Given the description of an element on the screen output the (x, y) to click on. 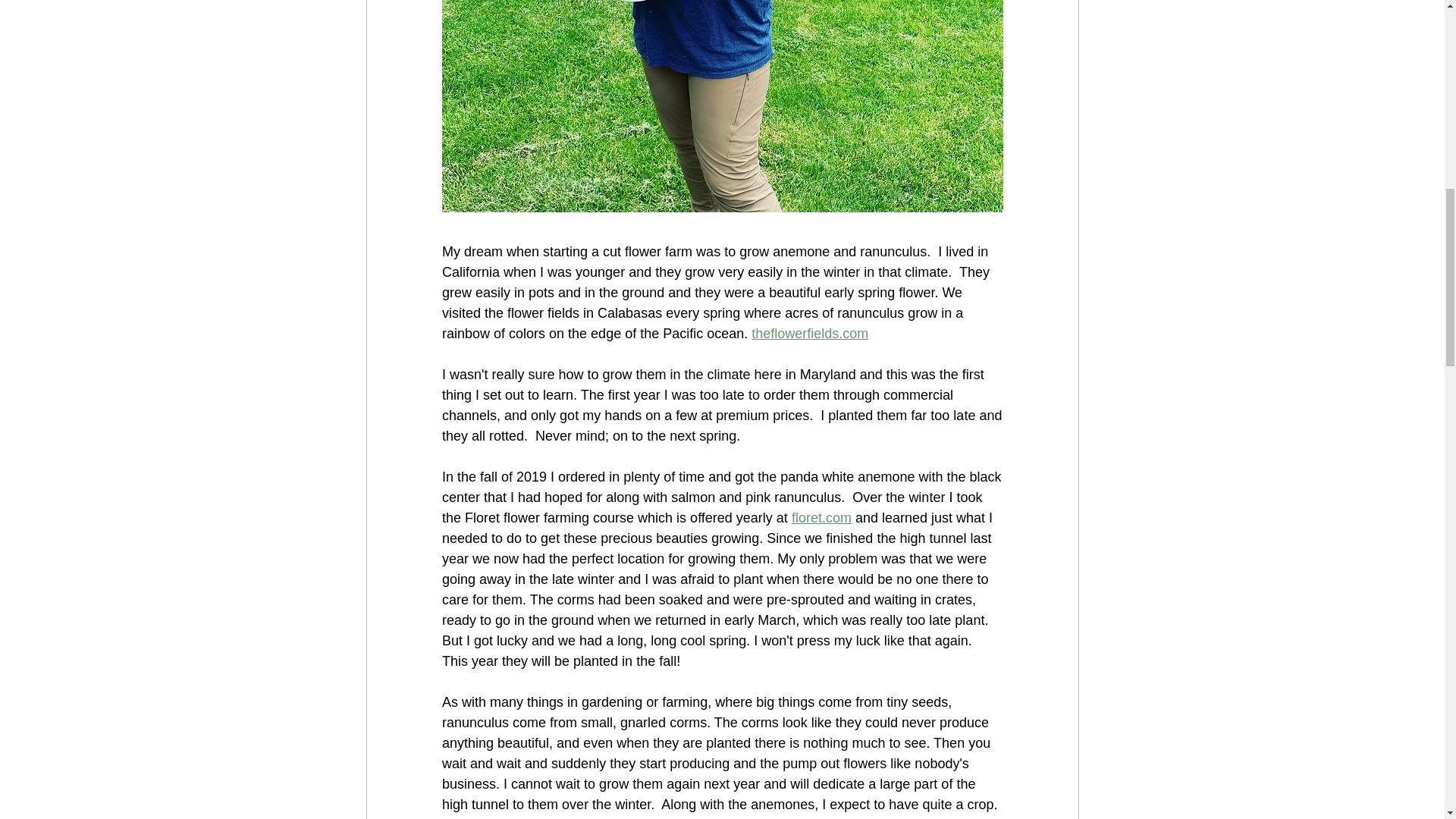
floret.com (820, 517)
theflowerfields.com (809, 333)
